Given the description of an element on the screen output the (x, y) to click on. 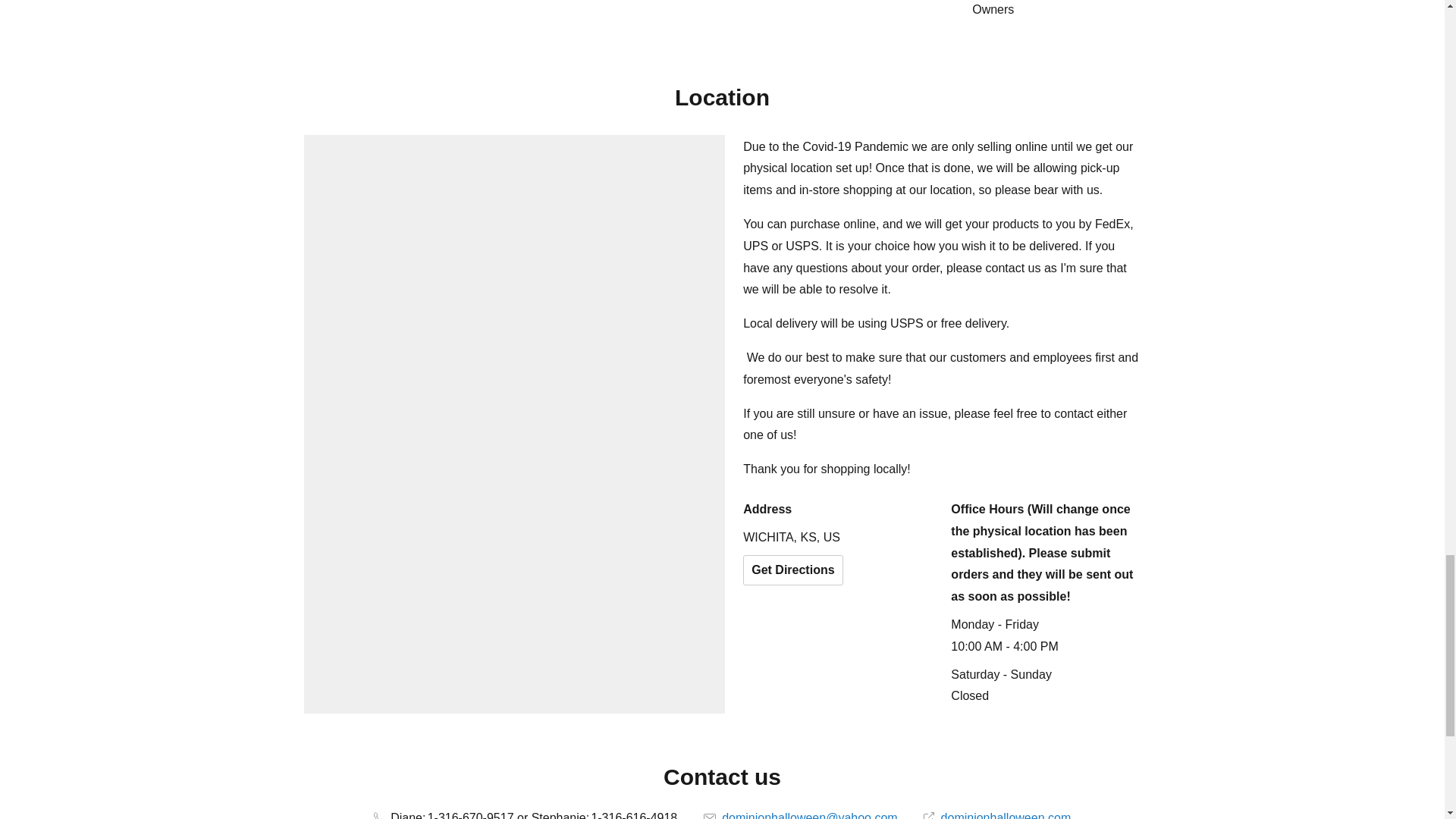
Get Directions (792, 570)
dominionhalloween.com (996, 815)
